Given the description of an element on the screen output the (x, y) to click on. 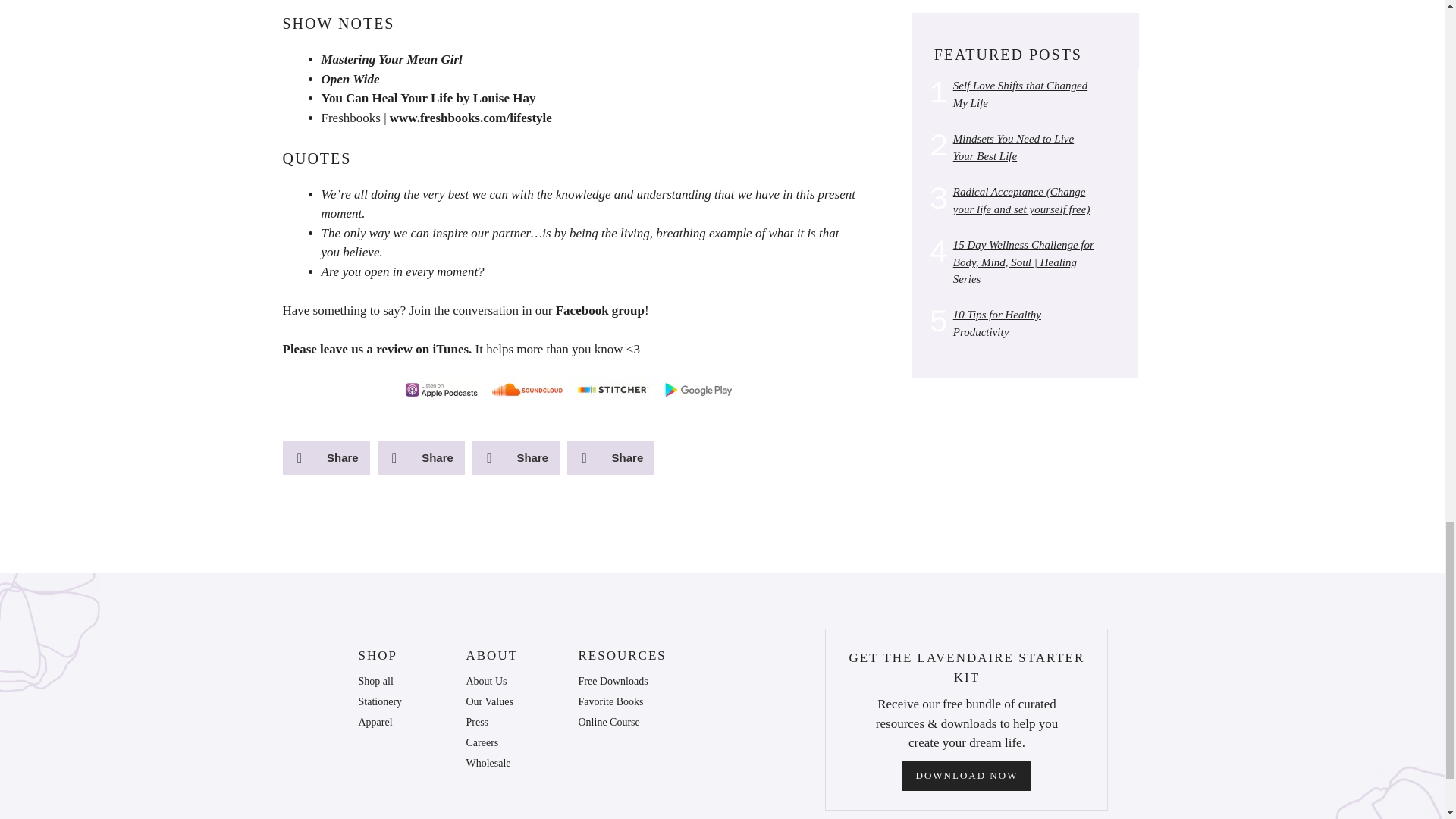
Self Love Shifts that Changed My Life (1020, 93)
Share (325, 458)
Share (515, 458)
Share (610, 458)
Mindsets You Need to Live Your Best Life (1013, 147)
Self Love Shifts that Changed My Life (1020, 93)
Open Wide (350, 79)
Share (420, 458)
Mindsets You Need to Live Your Best Life (1013, 147)
10 Tips for Healthy Productivity (997, 323)
Mastering Your Mean Girl (392, 59)
Please leave us a review on iTunes. (376, 349)
You Can Heal Your Life by Louise Hay (428, 97)
Facebook group (600, 310)
